Given the description of an element on the screen output the (x, y) to click on. 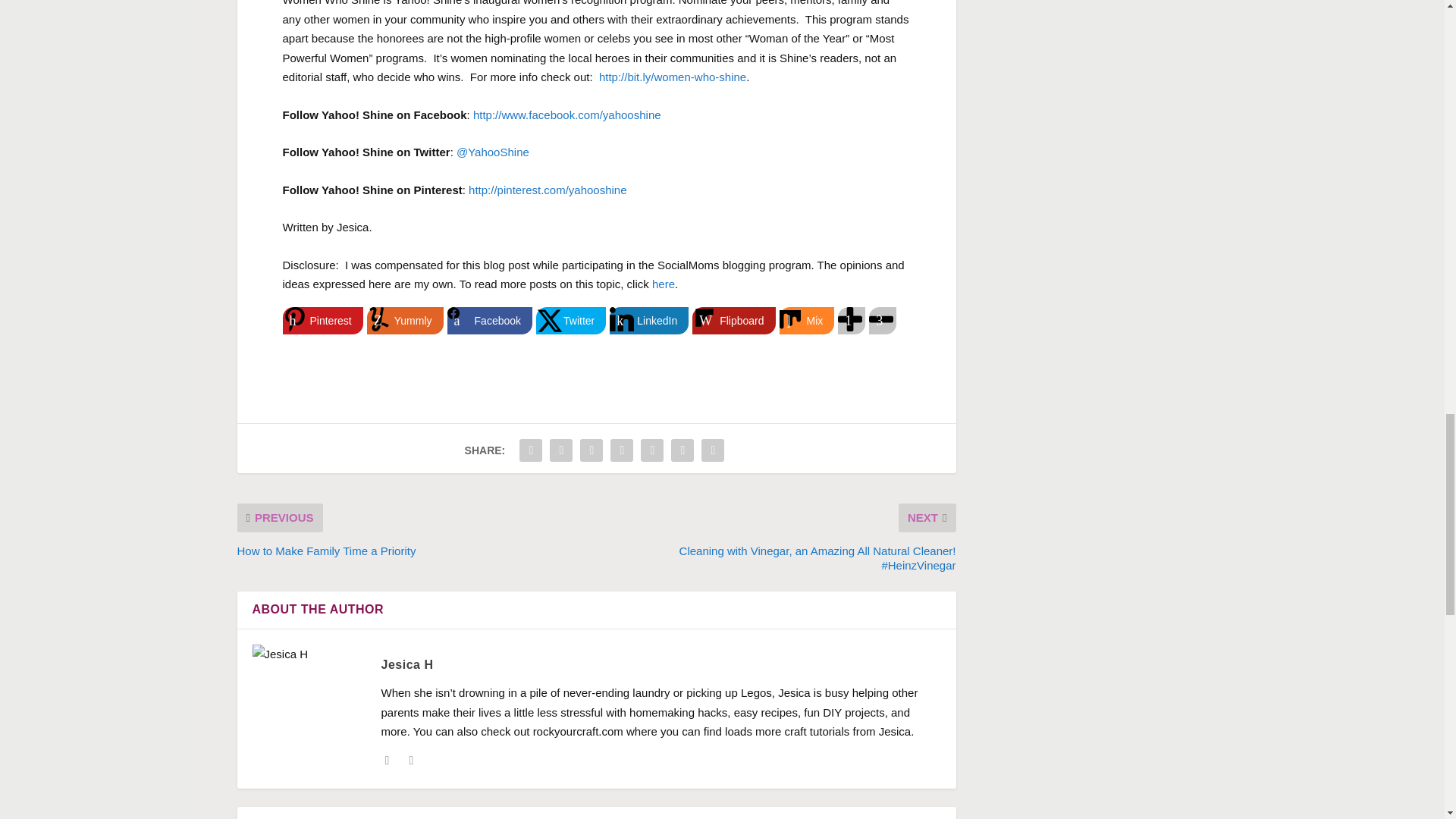
Share on Pinterest (322, 320)
